Given the description of an element on the screen output the (x, y) to click on. 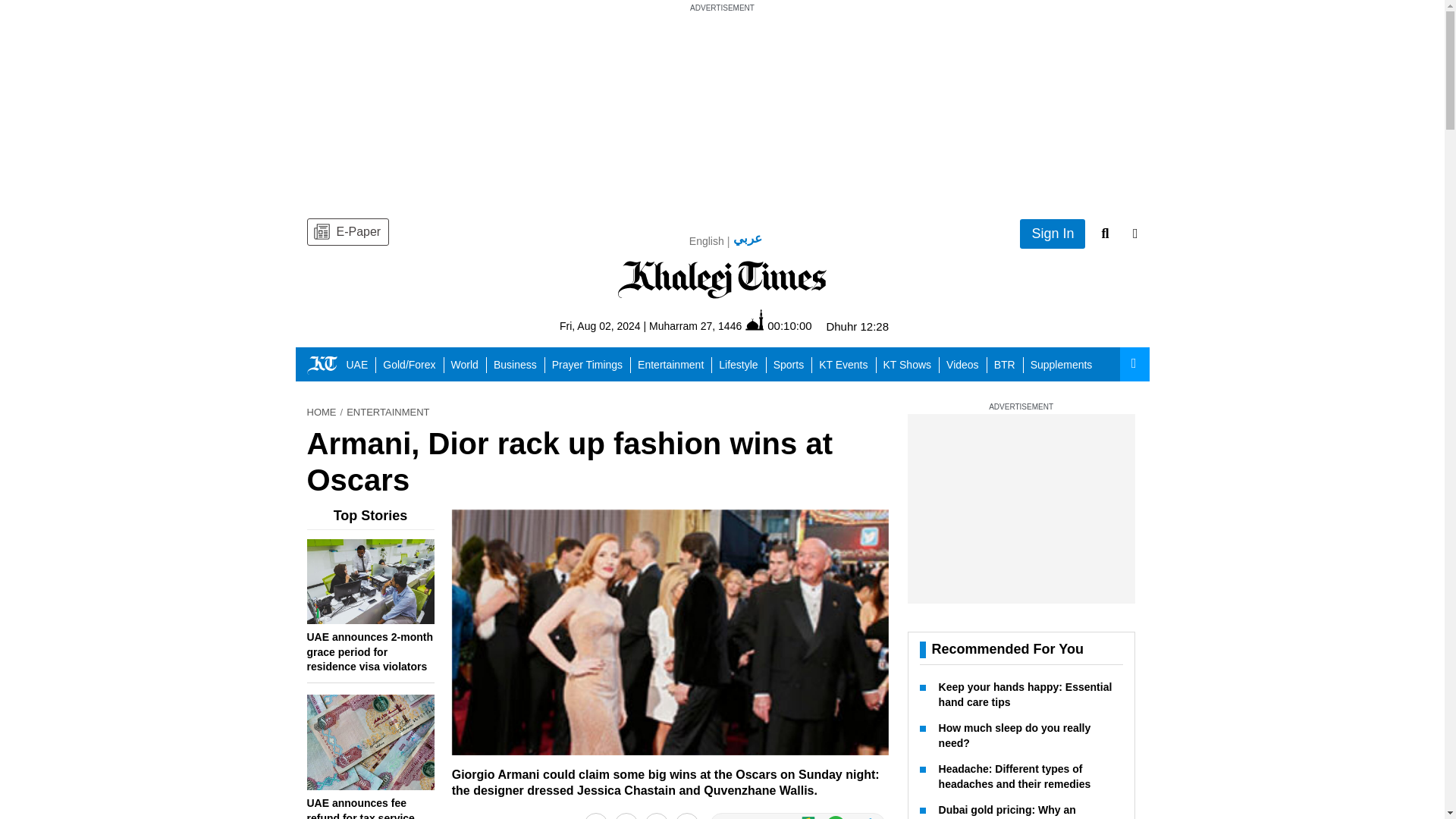
00:10:00 (777, 324)
Dhuhr 12:28 (856, 326)
Sign In (1052, 233)
E-Paper (346, 231)
